Given the description of an element on the screen output the (x, y) to click on. 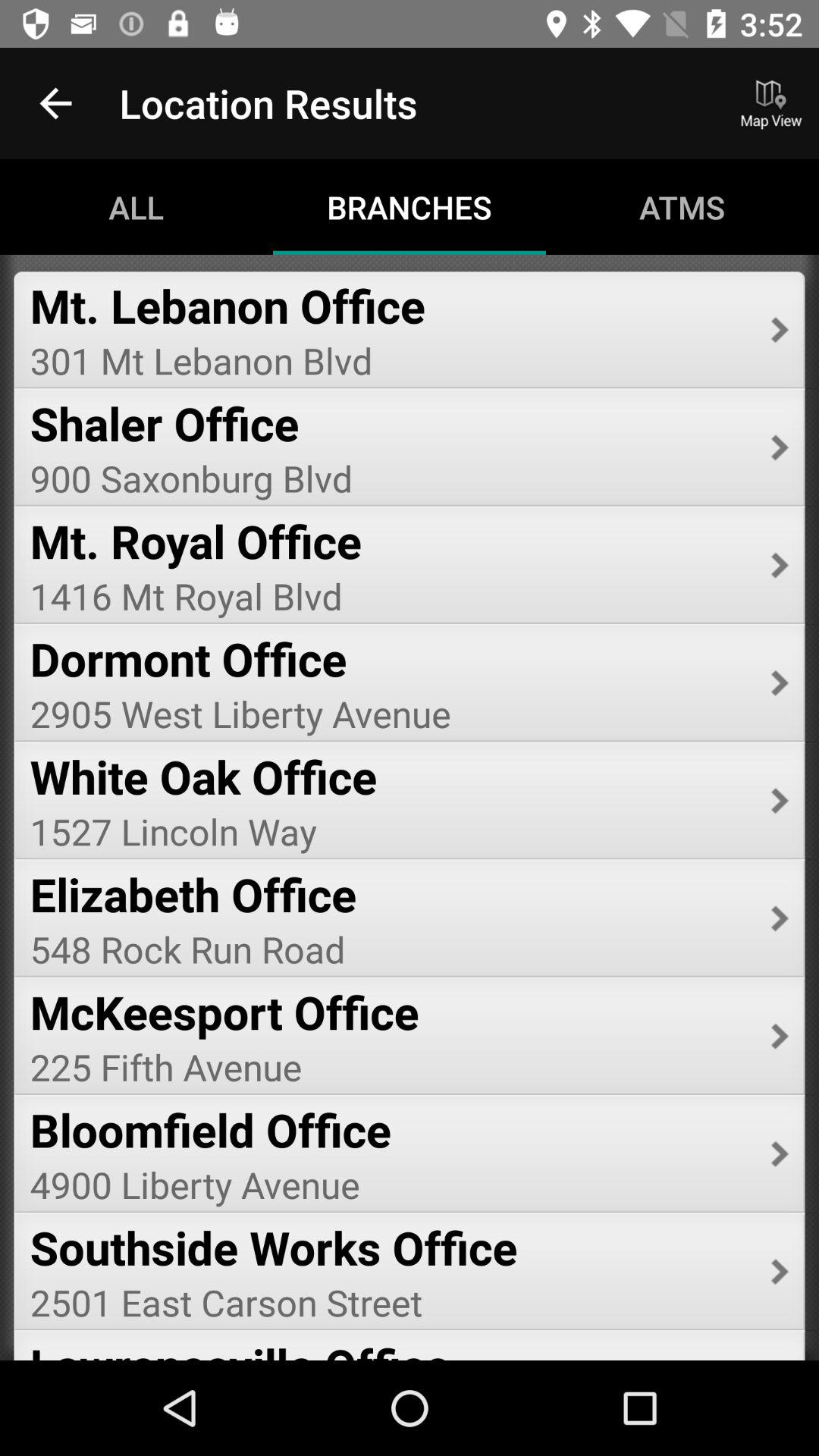
turn off the item above the 225 fifth avenue item (390, 1011)
